Given the description of an element on the screen output the (x, y) to click on. 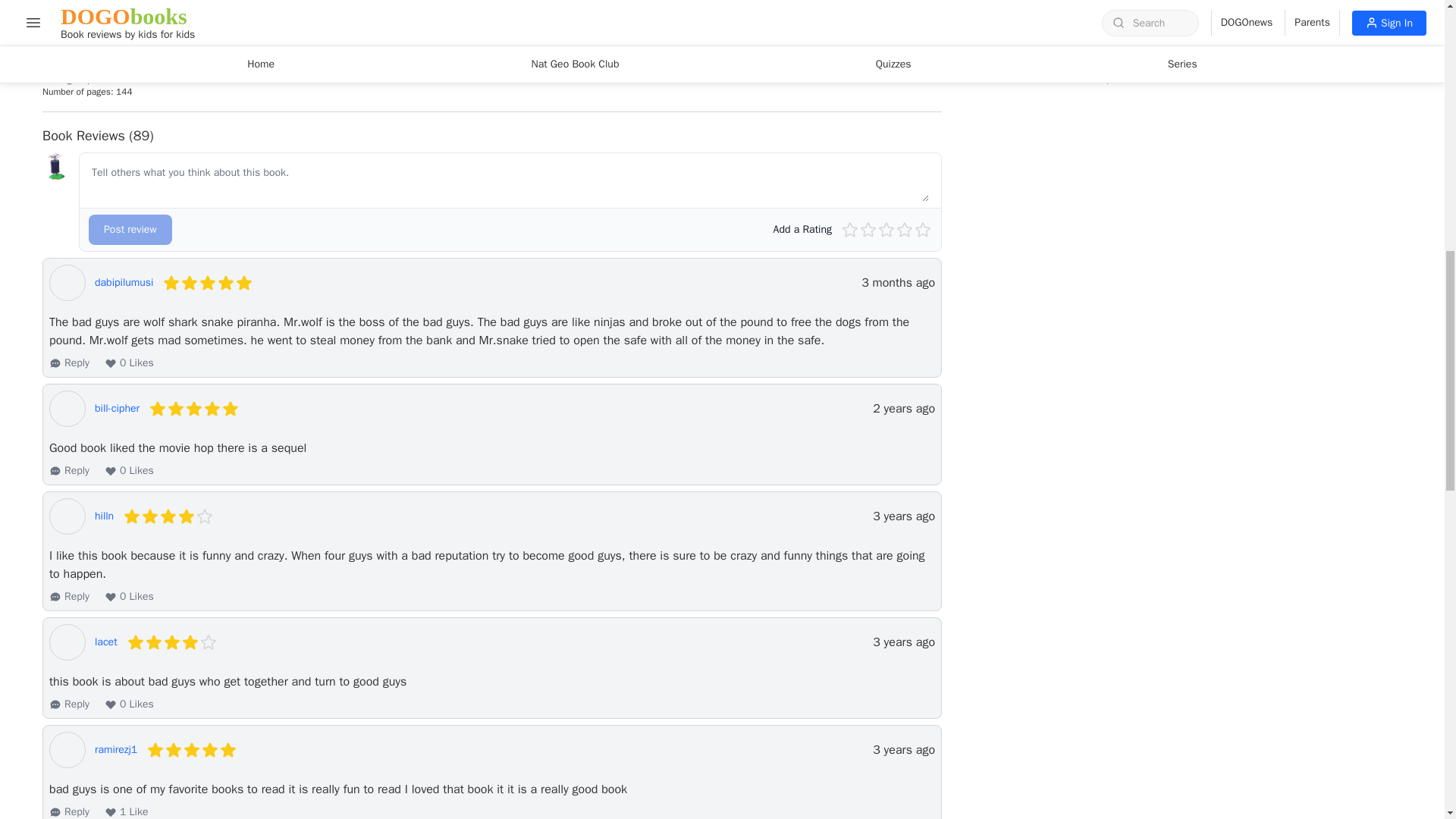
Reply (68, 363)
1 Like (126, 811)
0 Likes (129, 596)
0 Likes (129, 363)
May 7, 2024 (897, 282)
August 31, 2021 (903, 642)
Reply (68, 470)
hilln (103, 516)
January 26, 2023 (903, 408)
Reply (68, 703)
September 14, 2021 (903, 515)
lacet (105, 642)
bill-cipher (116, 408)
August 27, 2021 (903, 750)
Post review (129, 229)
